Given the description of an element on the screen output the (x, y) to click on. 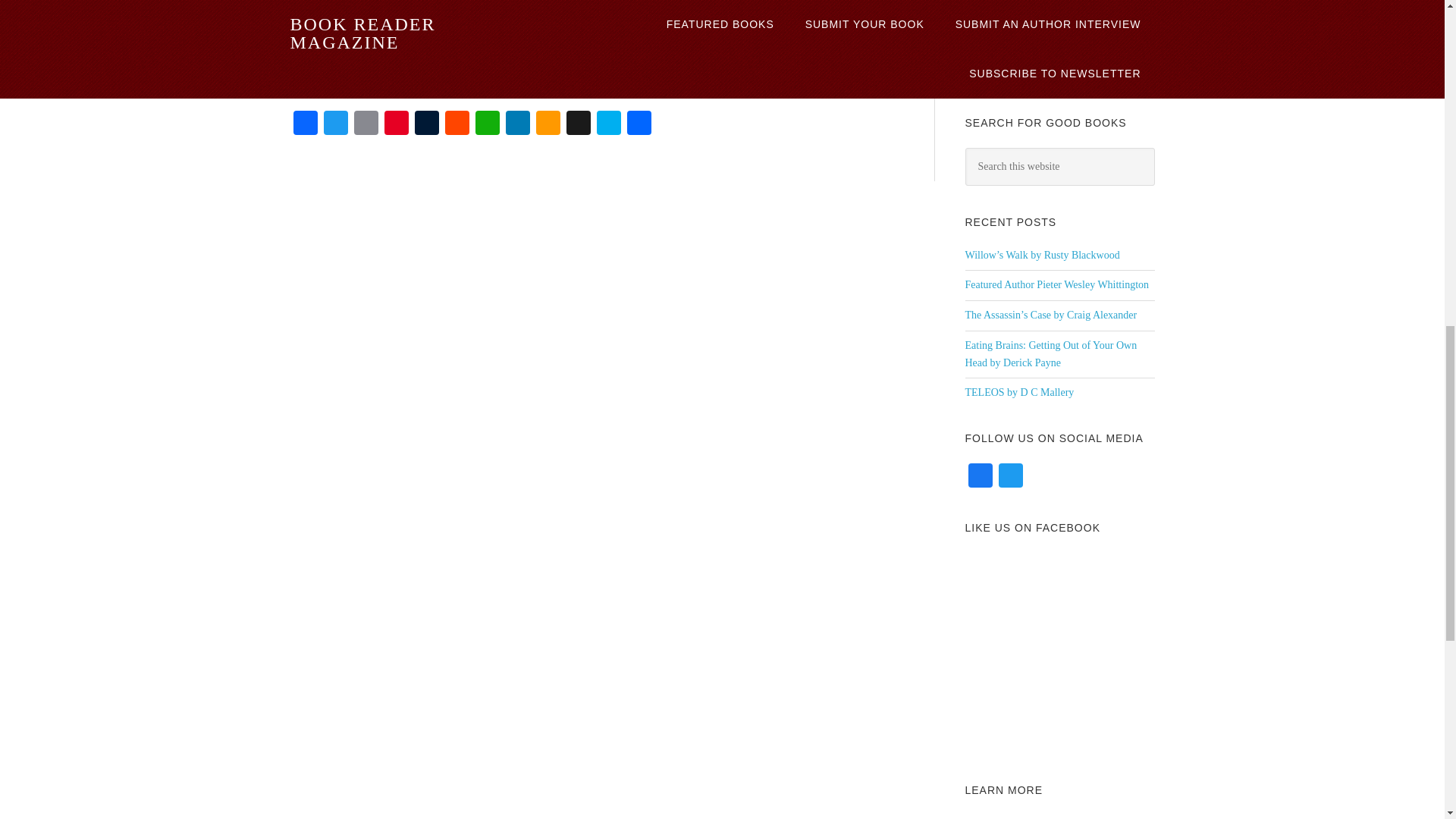
Amazon Wish List (547, 124)
Share (638, 124)
Twitter (335, 124)
Reddit (456, 124)
Facebook (304, 124)
Skype (607, 124)
Reddit (456, 124)
Email (365, 124)
LinkedIn (517, 124)
Tumblr (425, 124)
